Given the description of an element on the screen output the (x, y) to click on. 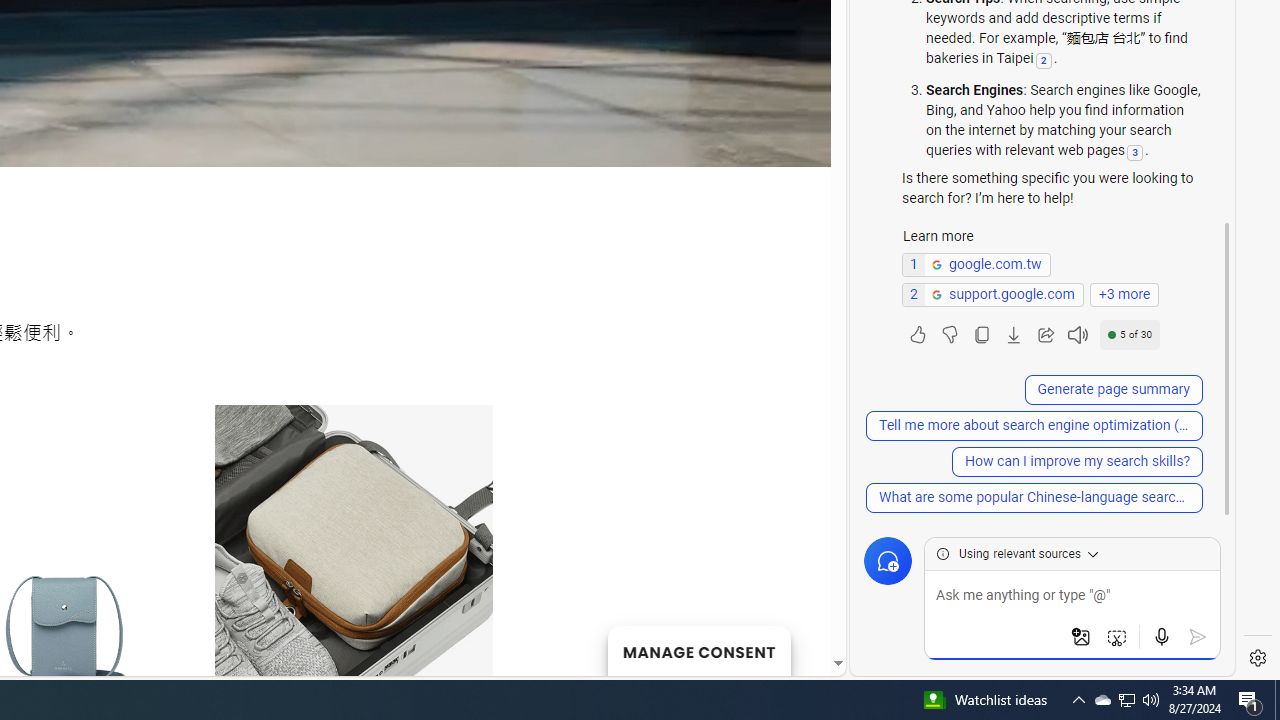
MANAGE CONSENT (698, 650)
